Given the description of an element on the screen output the (x, y) to click on. 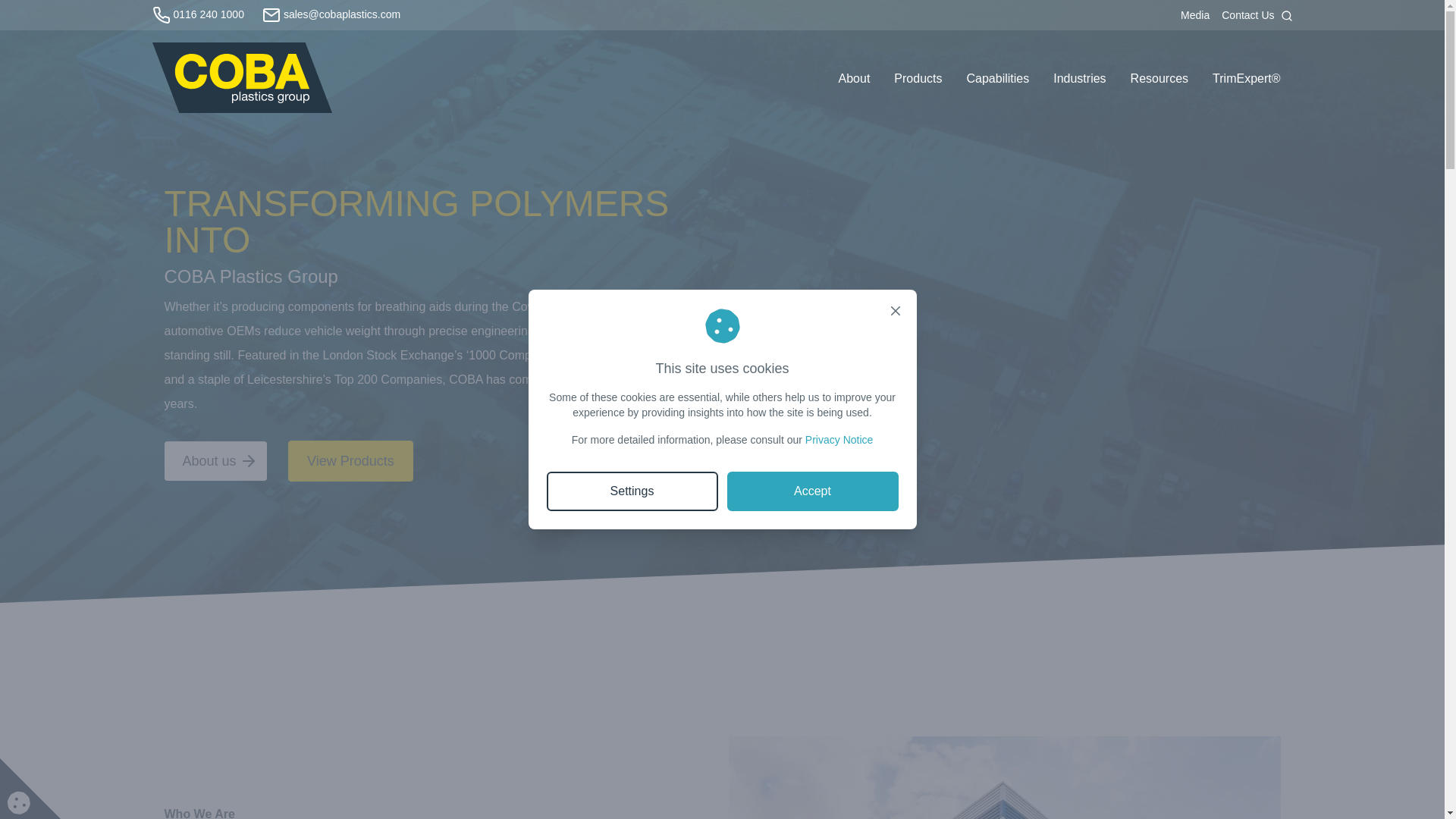
Accept (812, 491)
Settings (631, 491)
Contact Us (1244, 15)
Media (1194, 15)
Privacy Notice (838, 439)
Products (917, 78)
0116 240 1000 (197, 14)
